Given the description of an element on the screen output the (x, y) to click on. 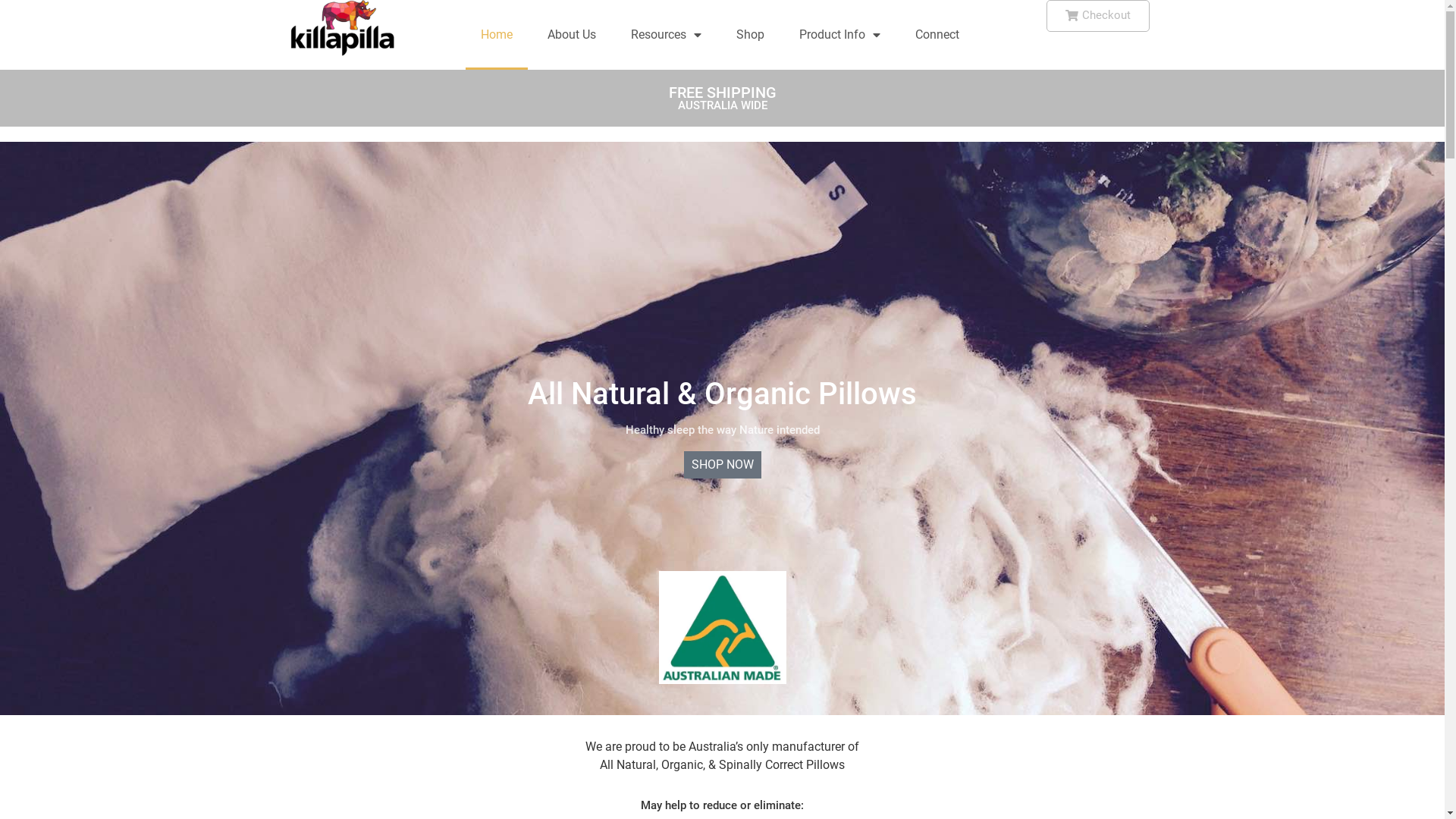
Product Info Element type: text (839, 34)
Connect Element type: text (937, 34)
About Us Element type: text (571, 34)
Resources Element type: text (665, 34)
Checkout Element type: text (1097, 15)
SHOP NOW Element type: text (722, 463)
Shop Element type: text (750, 34)
Home Element type: text (496, 34)
